Given the description of an element on the screen output the (x, y) to click on. 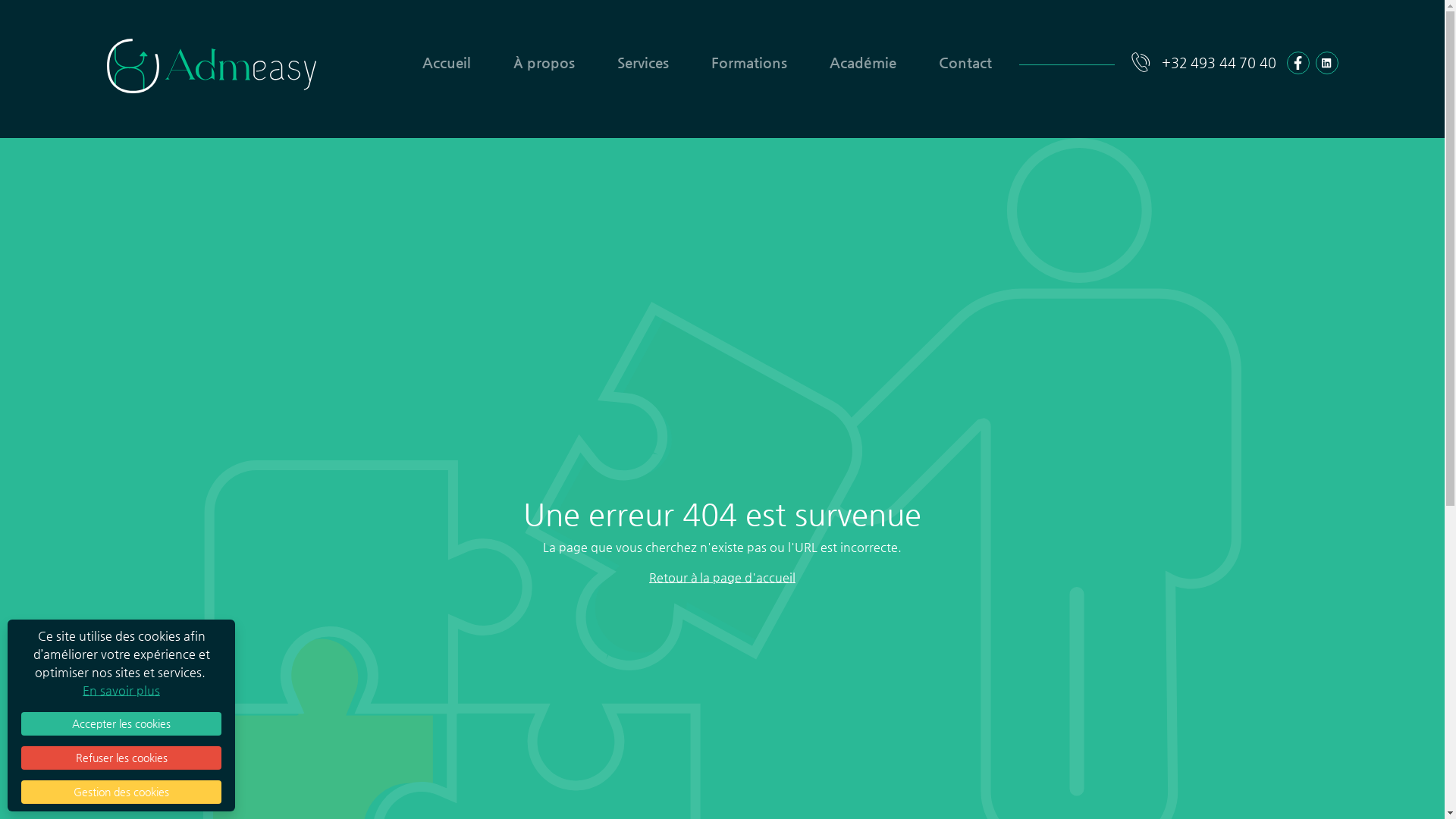
+32 493 44 70 40 Element type: text (1203, 62)
Gestion des cookies Element type: text (121, 791)
Contact Element type: text (964, 62)
Accueil Element type: text (445, 62)
En savoir plus Element type: text (121, 690)
Refuser les cookies Element type: text (121, 757)
Accepter les cookies Element type: text (121, 723)
Formations Element type: text (749, 62)
Services Element type: text (642, 62)
